Given the description of an element on the screen output the (x, y) to click on. 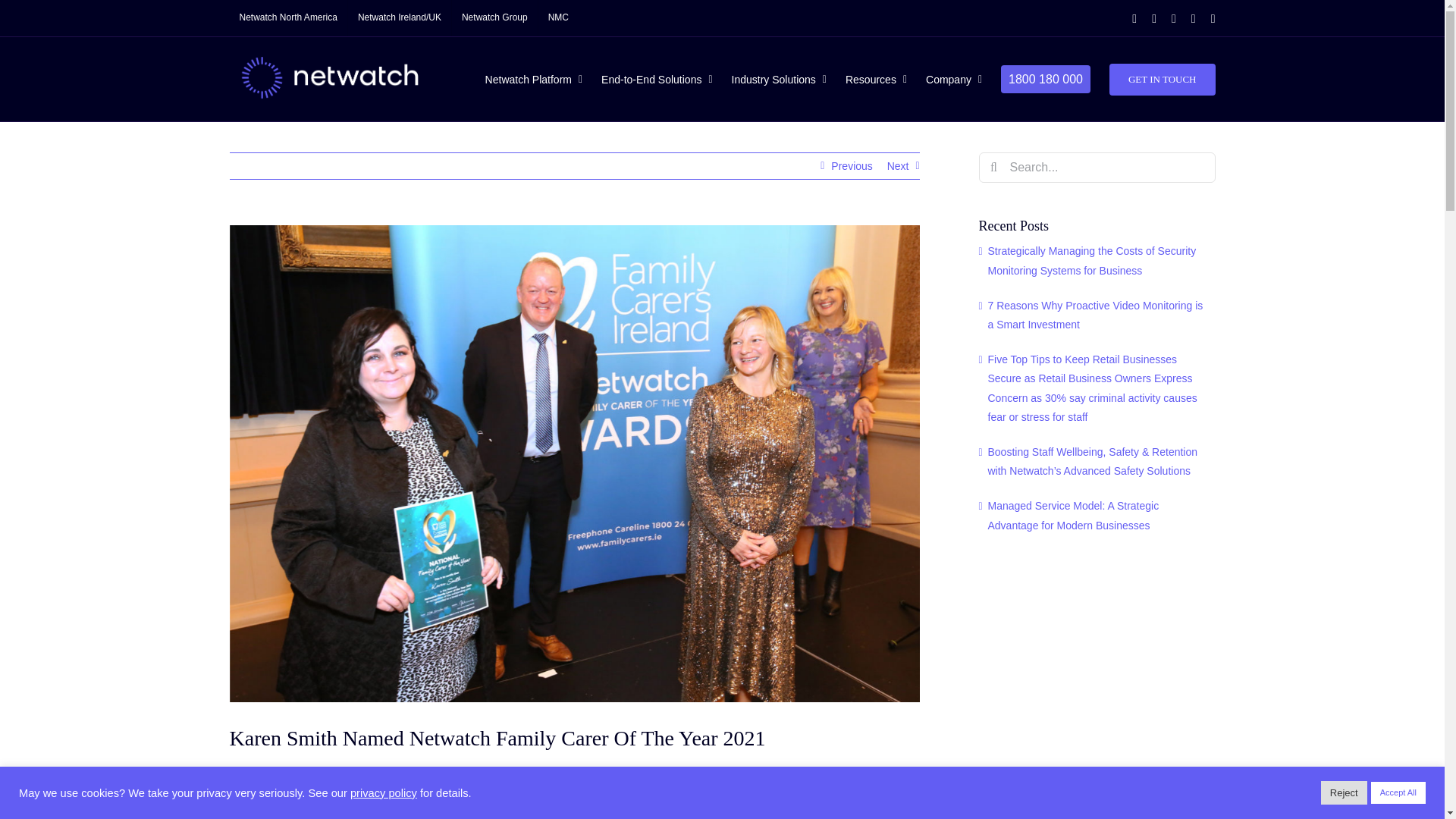
Industry Solutions (779, 79)
End-to-End Solutions (656, 79)
Netwatch Platform (533, 79)
NMC (558, 18)
Netwatch North America (287, 18)
Netwatch Group (494, 18)
